Given the description of an element on the screen output the (x, y) to click on. 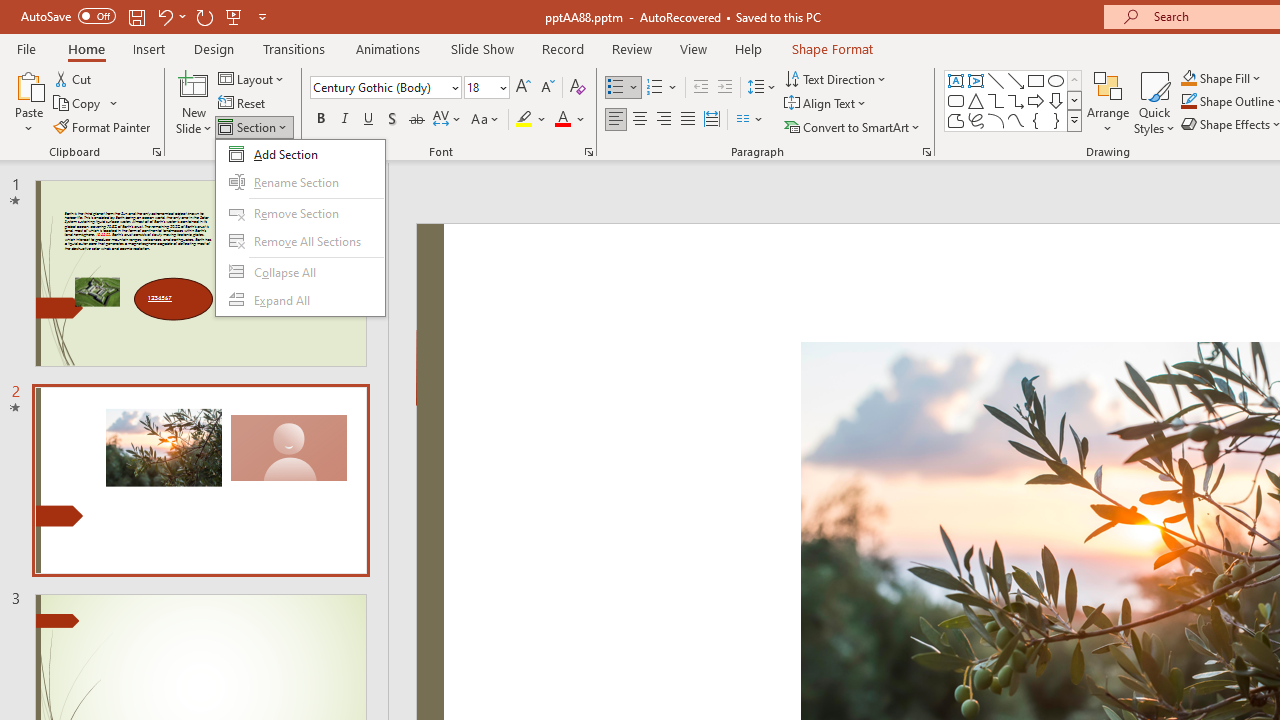
Shape Outline Teal, Accent 1 (1188, 101)
